Given the description of an element on the screen output the (x, y) to click on. 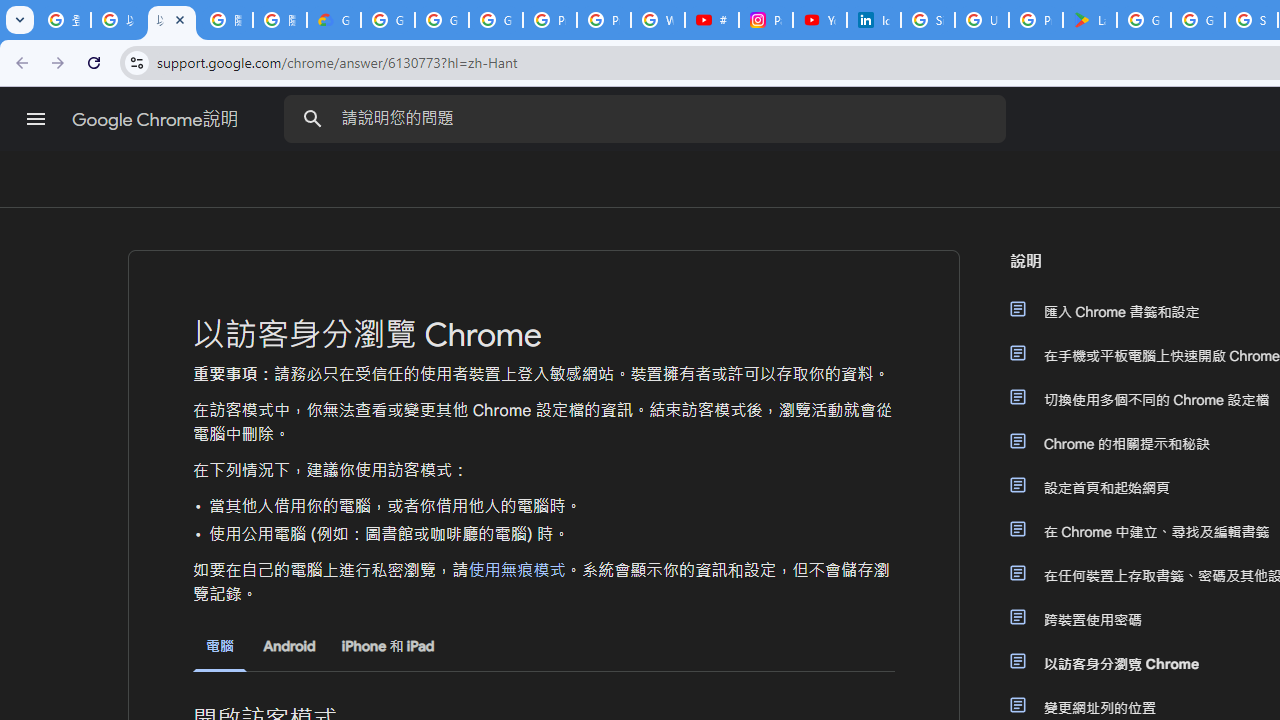
Privacy Help Center - Policies Help (604, 20)
#nbabasketballhighlights - YouTube (711, 20)
Last Shelter: Survival - Apps on Google Play (1089, 20)
